Given the description of an element on the screen output the (x, y) to click on. 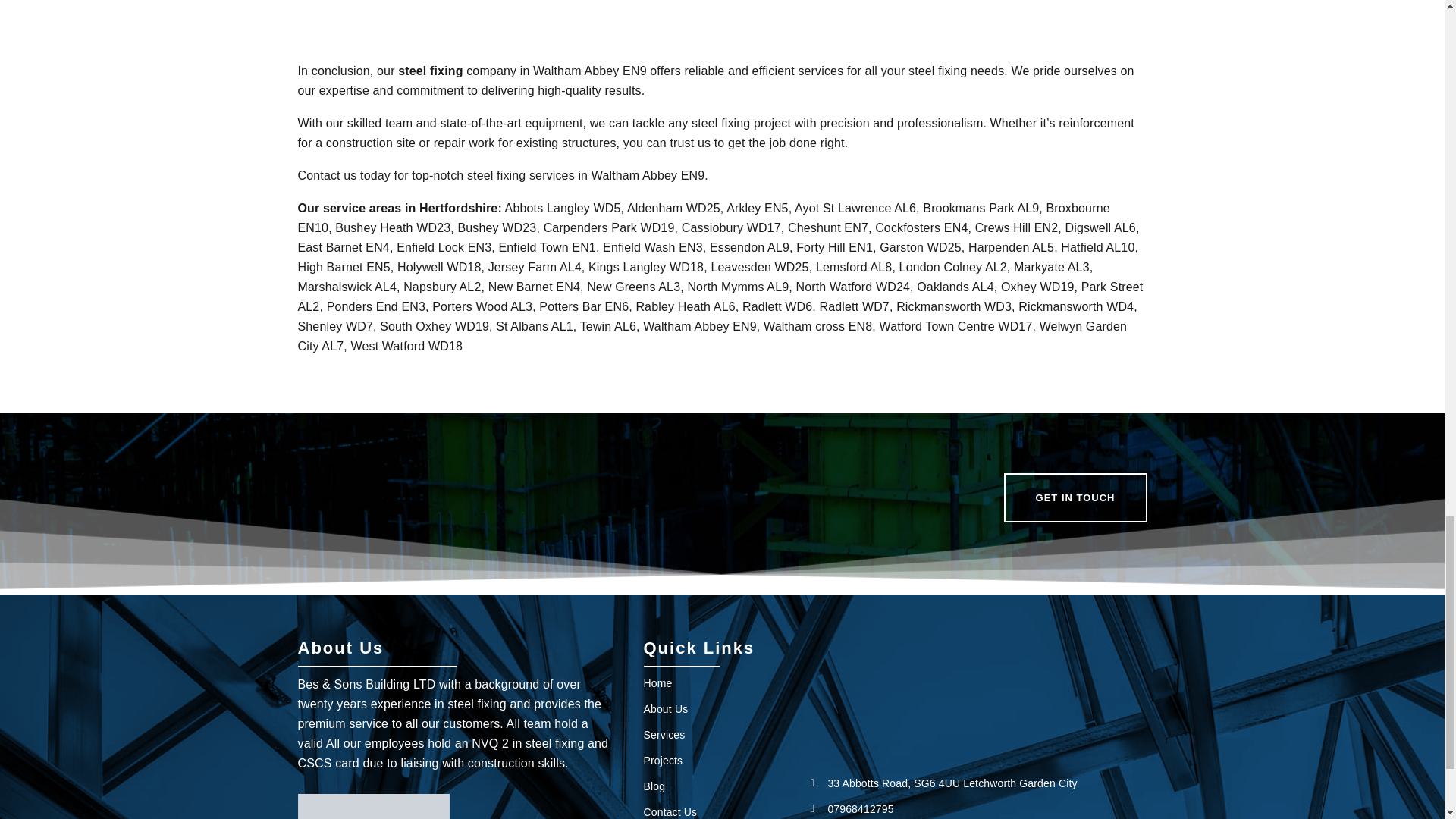
Enfield Lock EN3 (444, 246)
Forty Hill EN1 (834, 246)
Essendon AL9 (749, 246)
Bushey Heath WD23 (391, 227)
Abbots Langley WD5 (563, 207)
Brookmans Park AL9 (981, 207)
Digswell AL6 (1100, 227)
Enfield Town EN1 (546, 246)
Cassiobury WD17 (730, 227)
Hatfield AL10 (1097, 246)
Carpenders Park WD19 (609, 227)
Arkley EN5 (757, 207)
Broxbourne EN10 (703, 217)
Cockfosters EN4 (921, 227)
Cheshunt EN7 (827, 227)
